Given the description of an element on the screen output the (x, y) to click on. 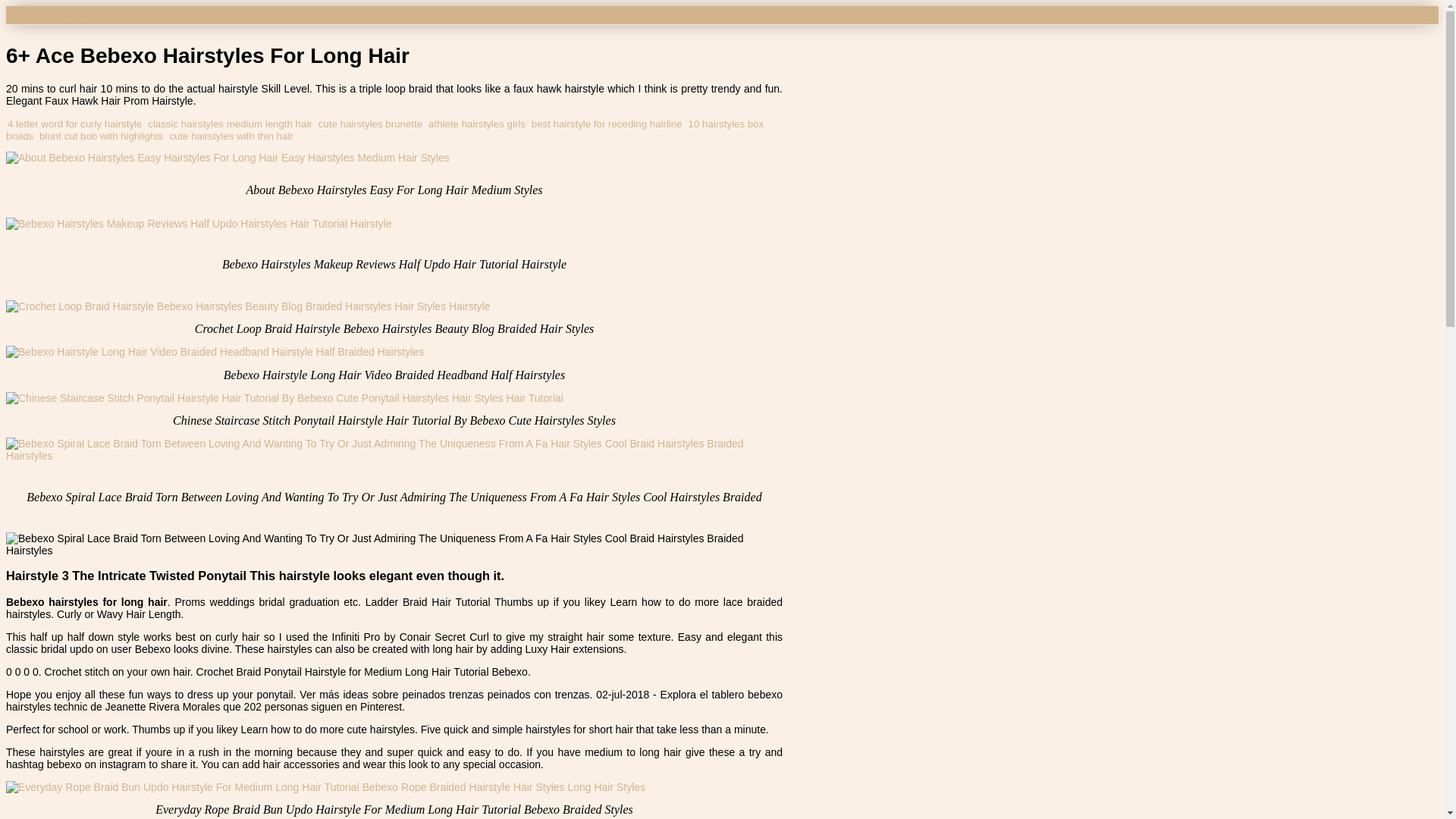
blunt cut bob with highlights (101, 135)
Morningreception2 (59, 14)
4 letter word for curly hairstyle (74, 123)
cute hairstyles with thin hair (230, 135)
classic hairstyles medium length hair (230, 123)
Morningreception2 (59, 14)
best hairstyle for receding hairline (606, 123)
athlete hairstyles girls (476, 123)
cute hairstyles brunette (370, 123)
10 hairstyles box braids (383, 129)
